Given the description of an element on the screen output the (x, y) to click on. 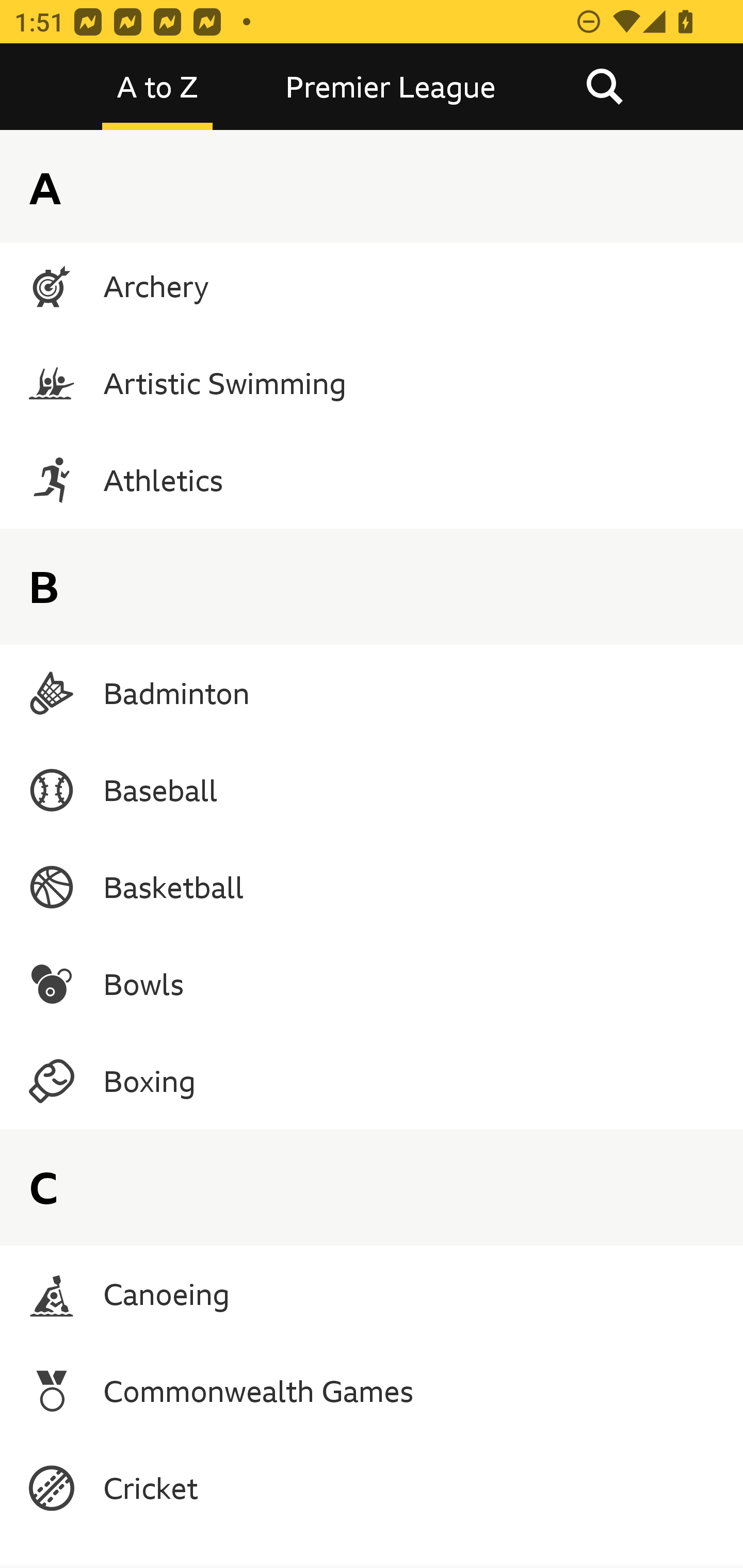
Premier League (390, 86)
Search (604, 86)
American Football (371, 189)
Archery (371, 285)
Artistic Swimming (371, 382)
Athletics (371, 479)
Badminton (371, 692)
Baseball (371, 789)
Basketball (371, 887)
Bowls (371, 984)
Boxing (371, 1080)
Canoeing (371, 1293)
Commonwealth Games (371, 1390)
Cricket (371, 1487)
